Given the description of an element on the screen output the (x, y) to click on. 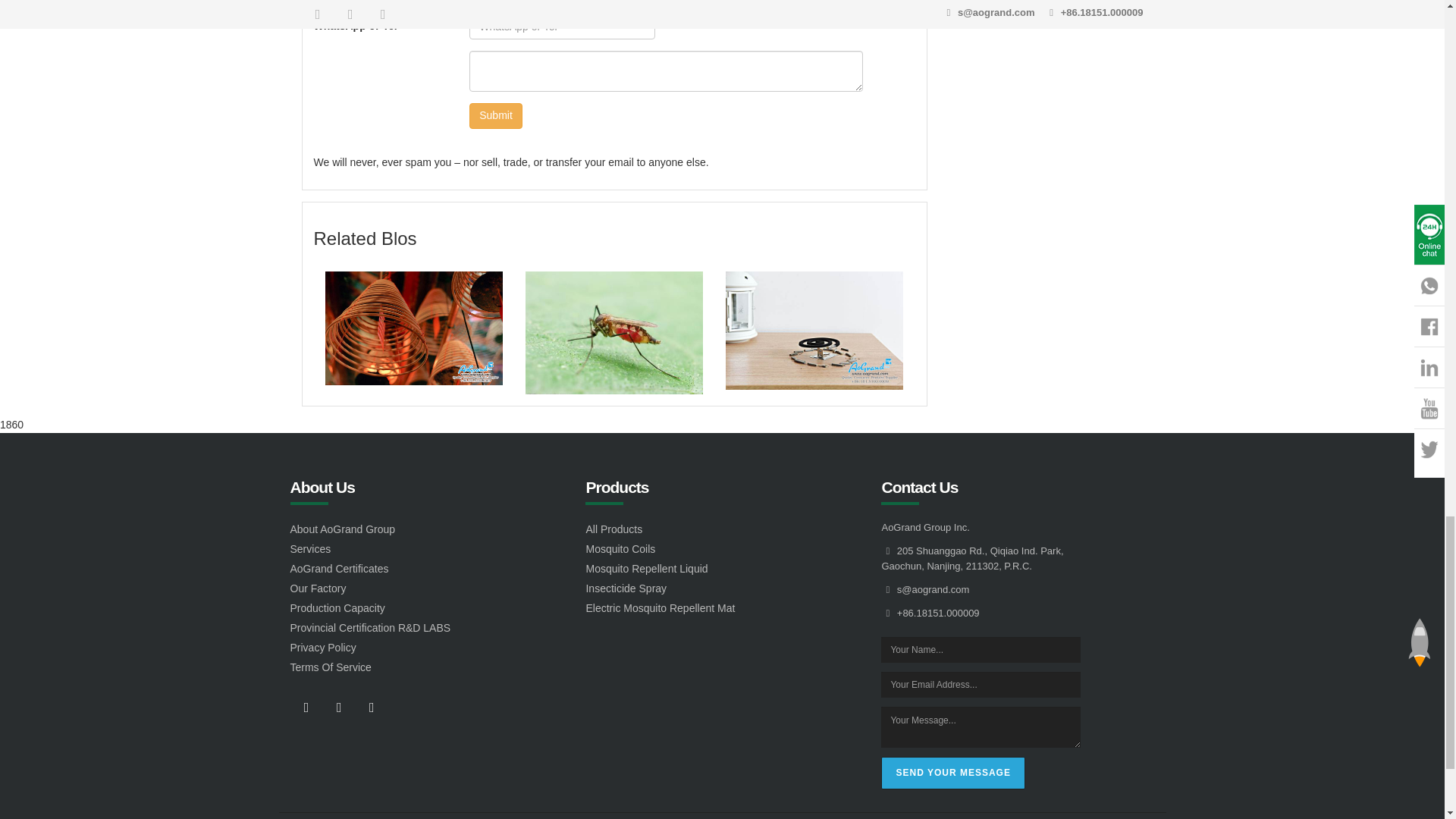
How to Clean the Mosquito Blood on the Sheet? (614, 332)
Necessity of Anti-mosquito -- Mosquito Coils (813, 330)
Submit (495, 115)
The Efficacy of Different Mosquito Repellents (413, 327)
